Given the description of an element on the screen output the (x, y) to click on. 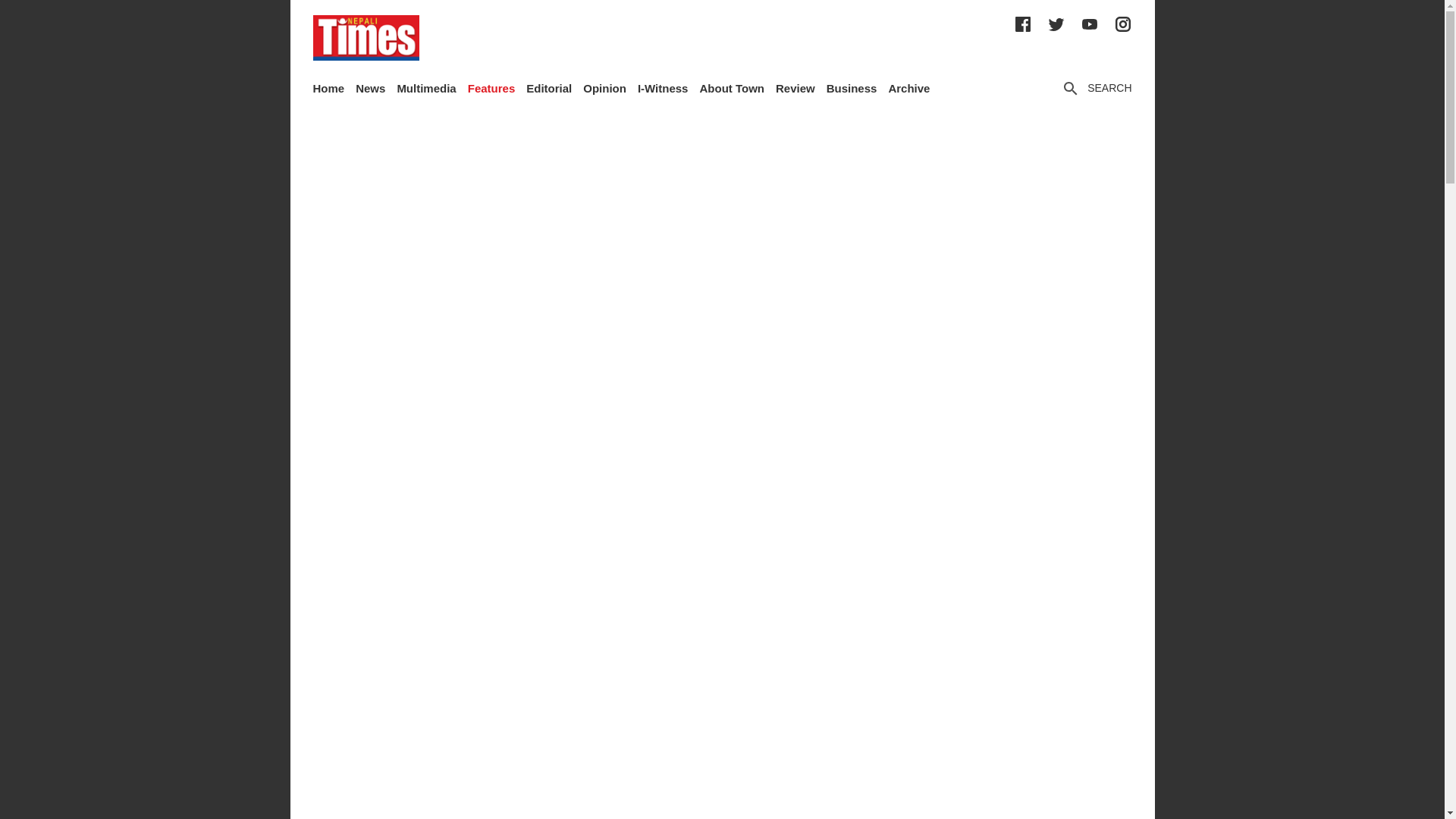
News (370, 88)
About Town (731, 88)
SEARCH (1096, 88)
I-Witness (662, 88)
Review (795, 88)
Features (491, 88)
Archive (909, 88)
Editorial (548, 88)
Business (852, 88)
Multimedia (425, 88)
Opinion (604, 88)
Home (328, 88)
